Given the description of an element on the screen output the (x, y) to click on. 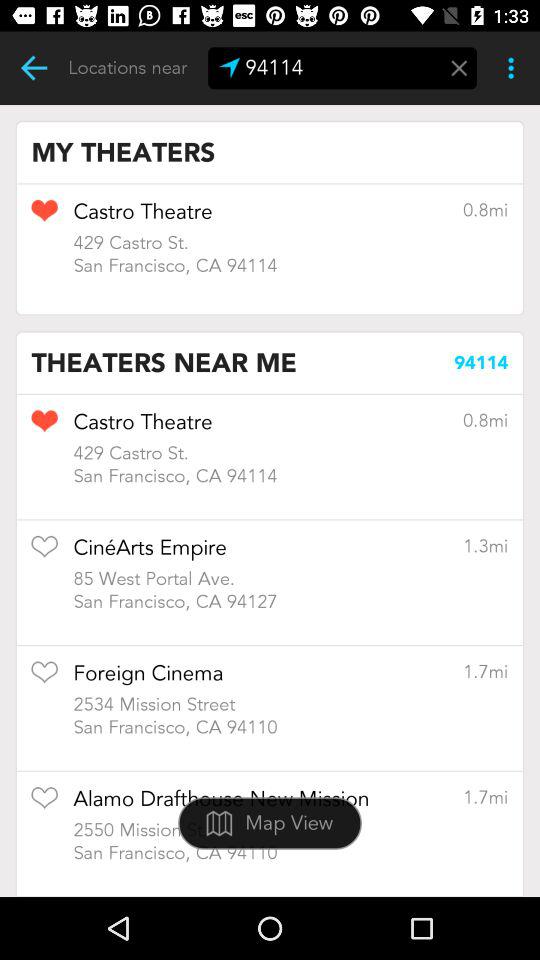
like simple (44, 678)
